Given the description of an element on the screen output the (x, y) to click on. 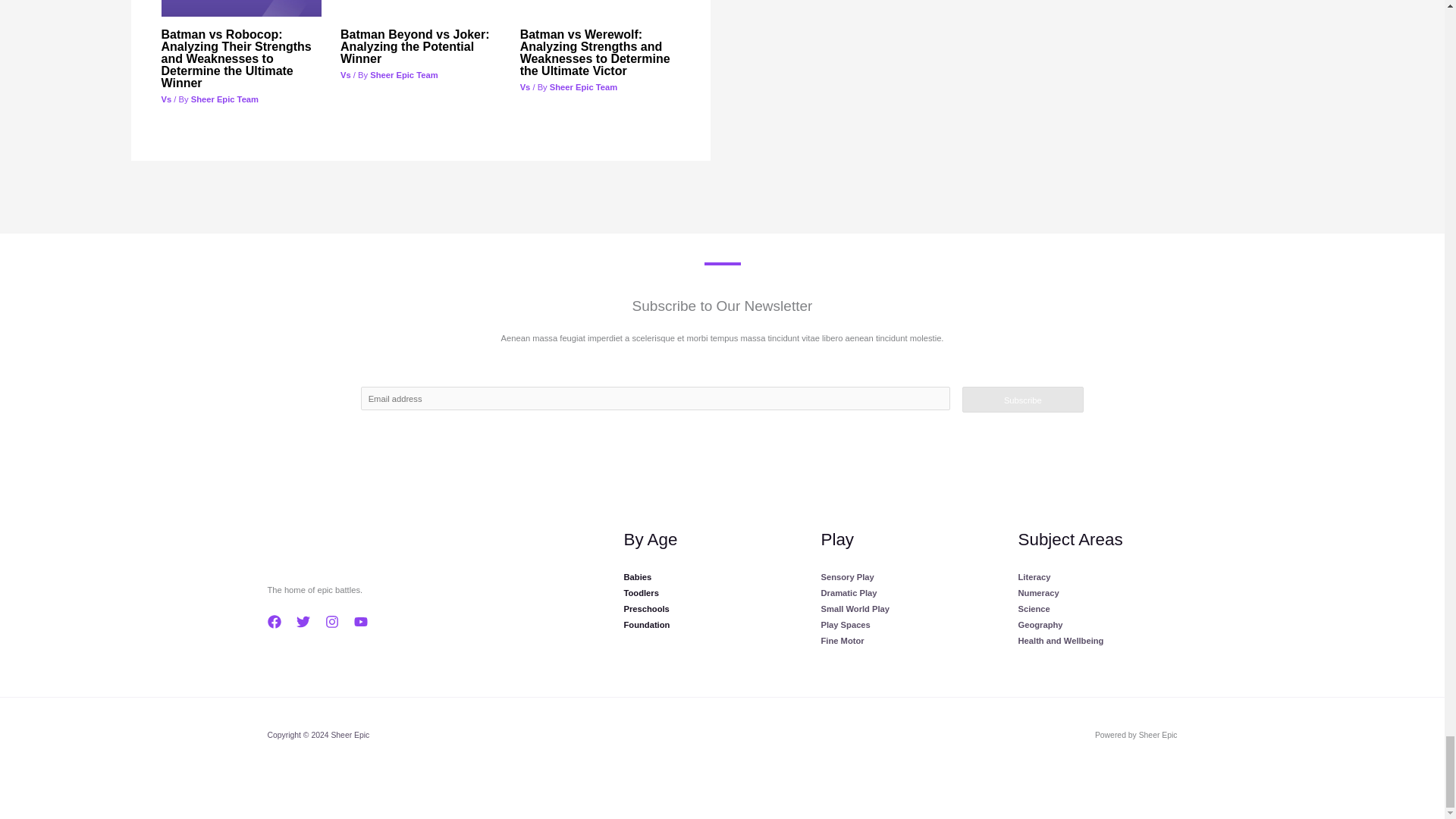
Sheer Epic Team (403, 74)
Vs (345, 74)
Sheer Epic Team (583, 86)
View all posts by Sheer Epic Team (403, 74)
Vs (165, 99)
Sheer Epic Team (224, 99)
Vs (525, 86)
Batman Beyond vs Joker: Analyzing the Potential Winner (414, 46)
View all posts by Sheer Epic Team (583, 86)
View all posts by Sheer Epic Team (224, 99)
